Given the description of an element on the screen output the (x, y) to click on. 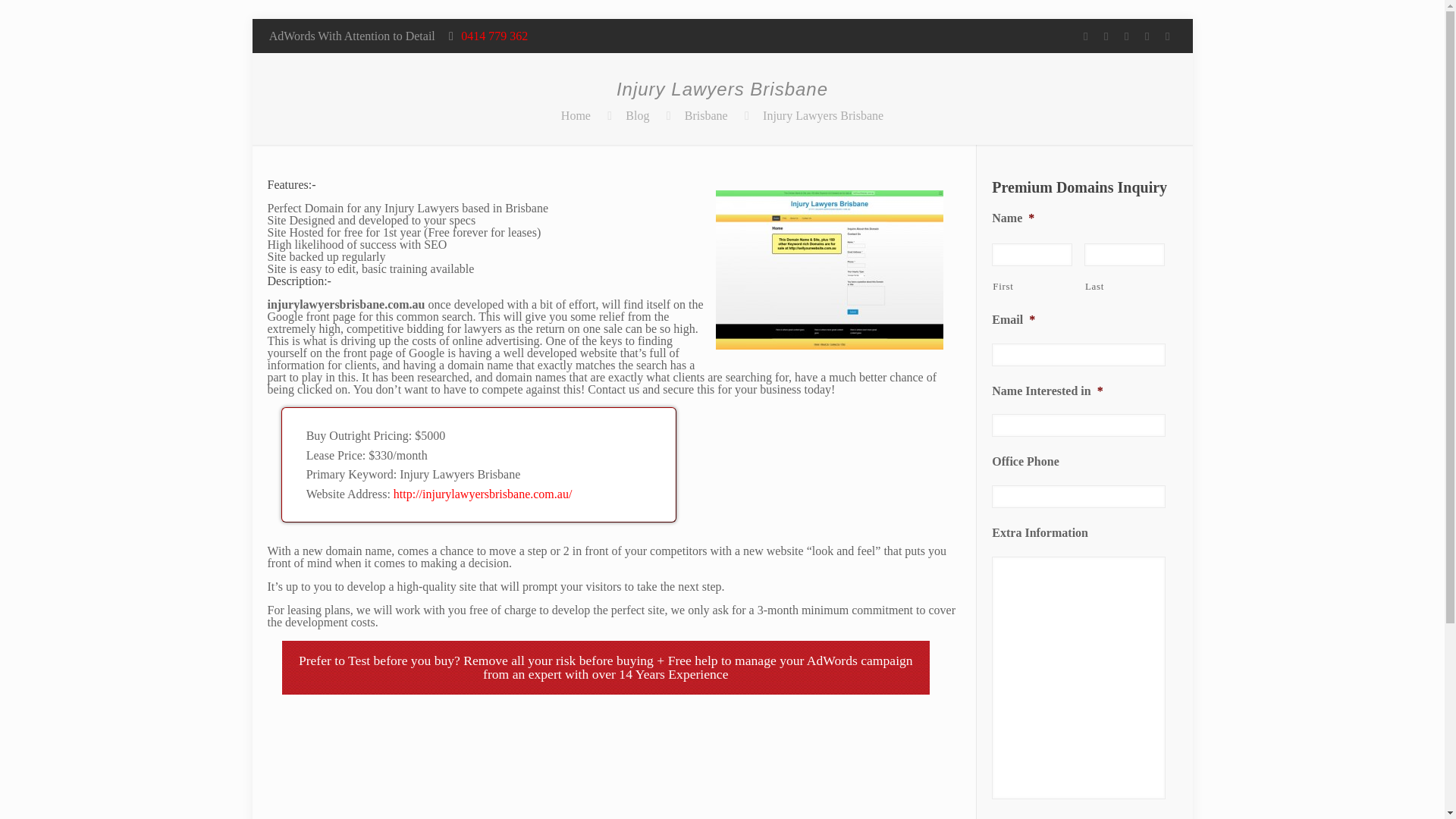
Test Before Buying (403, 660)
LinkedIn (1166, 36)
Home (575, 115)
Test before you buy? (403, 660)
0414 779 362 (494, 35)
Skype (1085, 36)
Facebook (1105, 36)
Brisbane (706, 115)
Twitter (1126, 36)
Injury Lawyers Brisbane (822, 115)
